Given the description of an element on the screen output the (x, y) to click on. 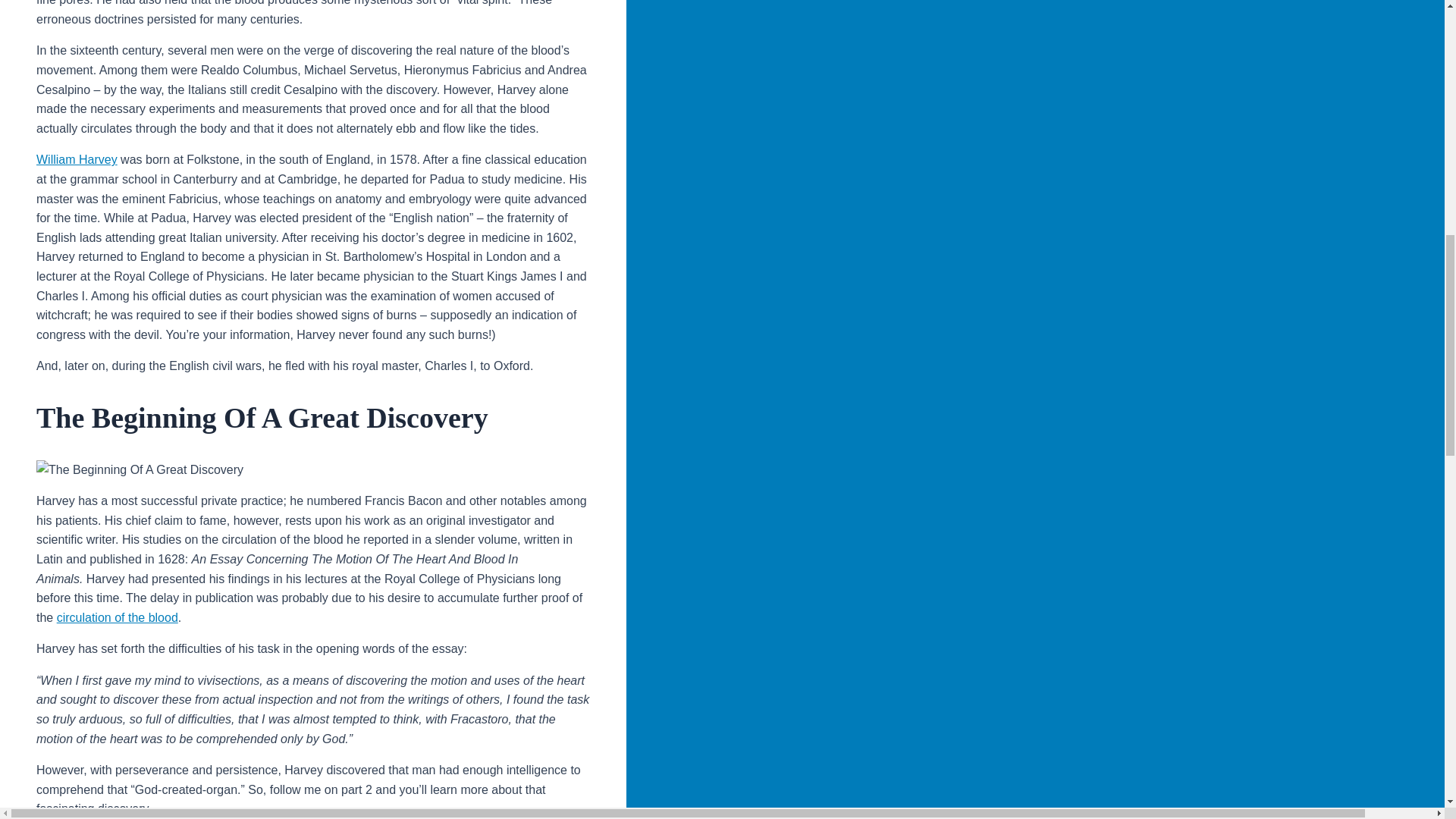
circulation of the blood (116, 617)
William Harvey (76, 159)
